Given the description of an element on the screen output the (x, y) to click on. 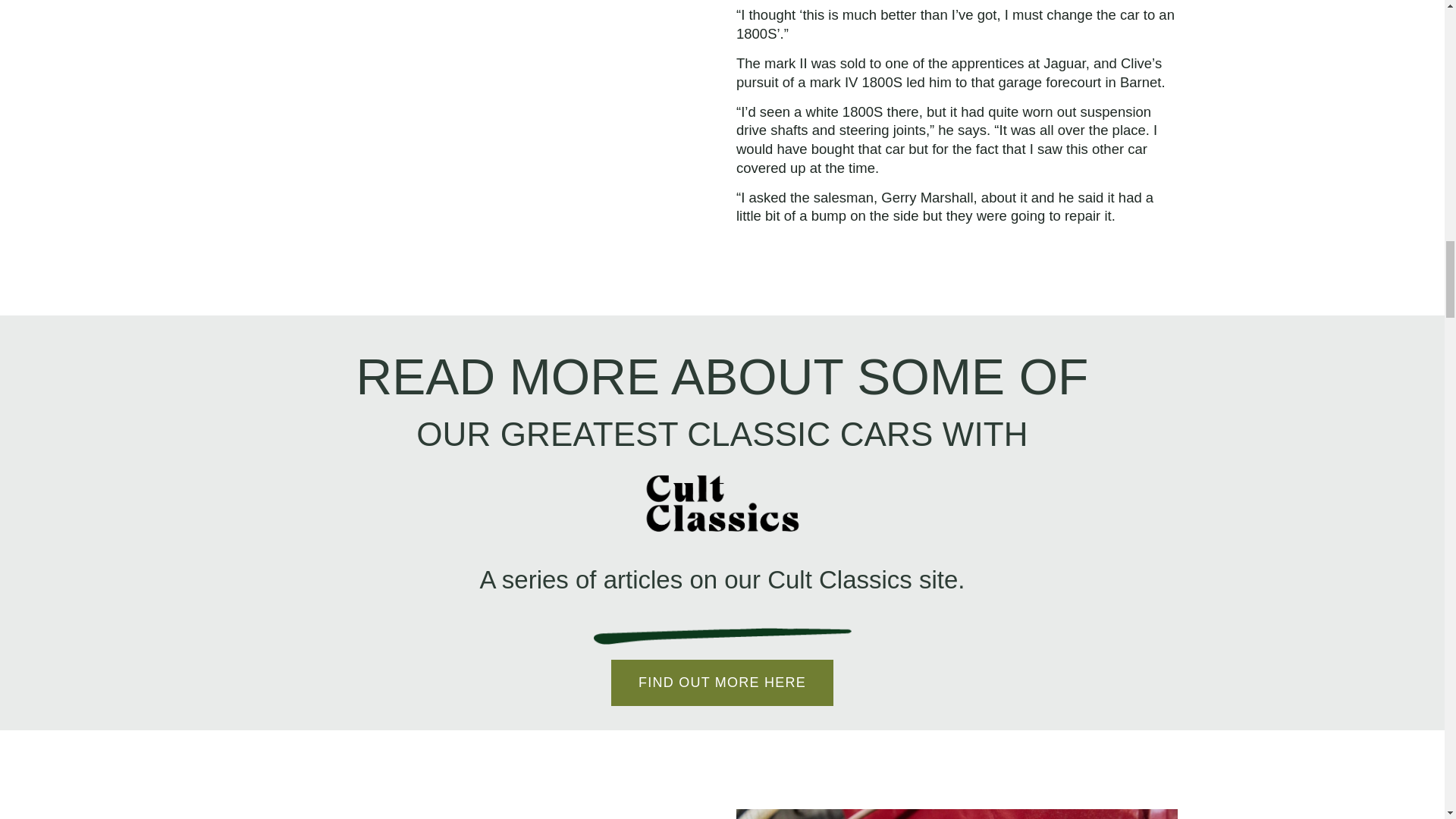
FIND OUT MORE HERE (721, 682)
